Given the description of an element on the screen output the (x, y) to click on. 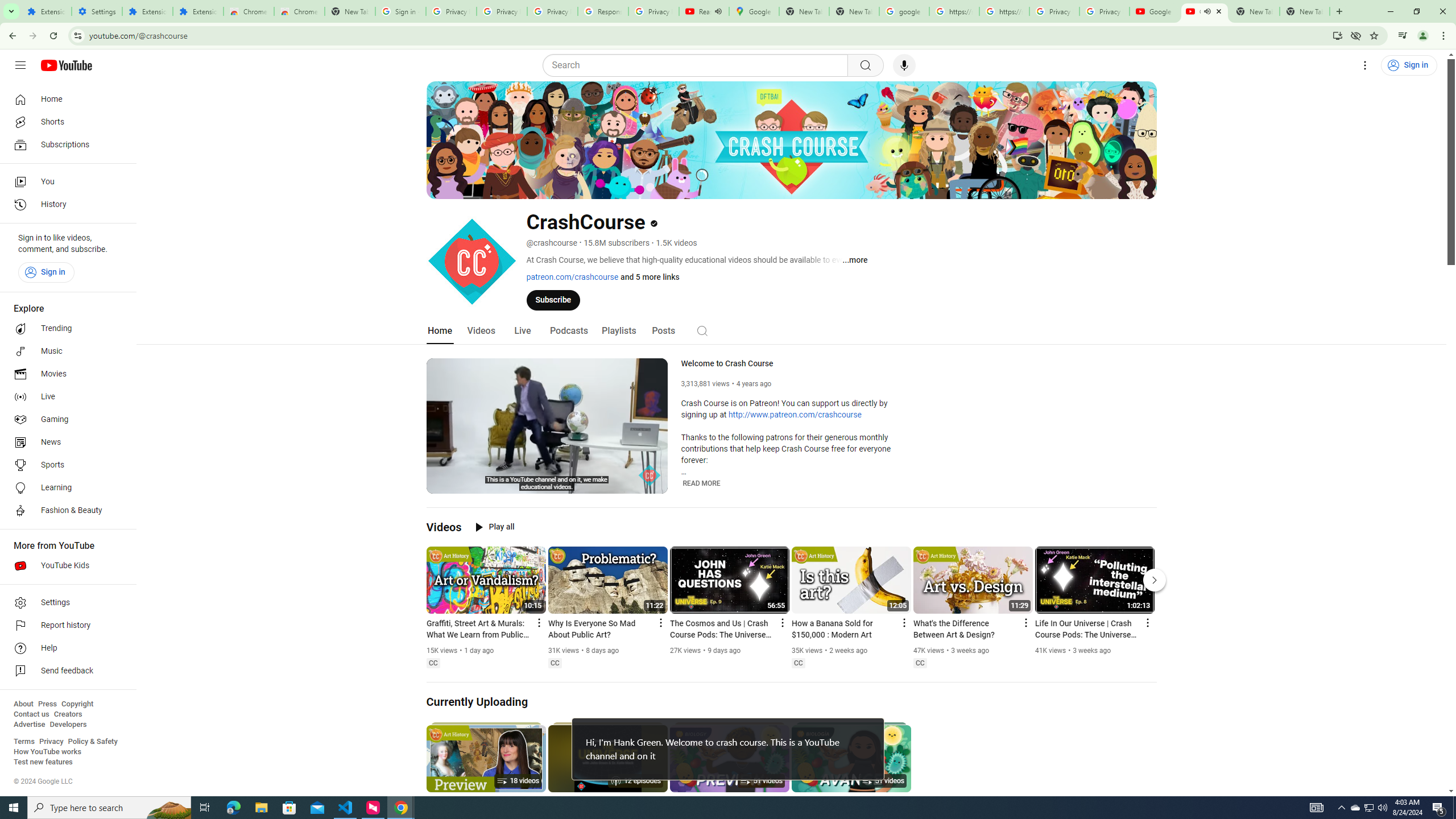
Full screen (f) (650, 483)
Play all (494, 526)
Home (64, 99)
Chrome Web Store (248, 11)
CrashCourse - YouTube - Audio playing (1204, 11)
Google Maps (753, 11)
Videos (443, 526)
